Given the description of an element on the screen output the (x, y) to click on. 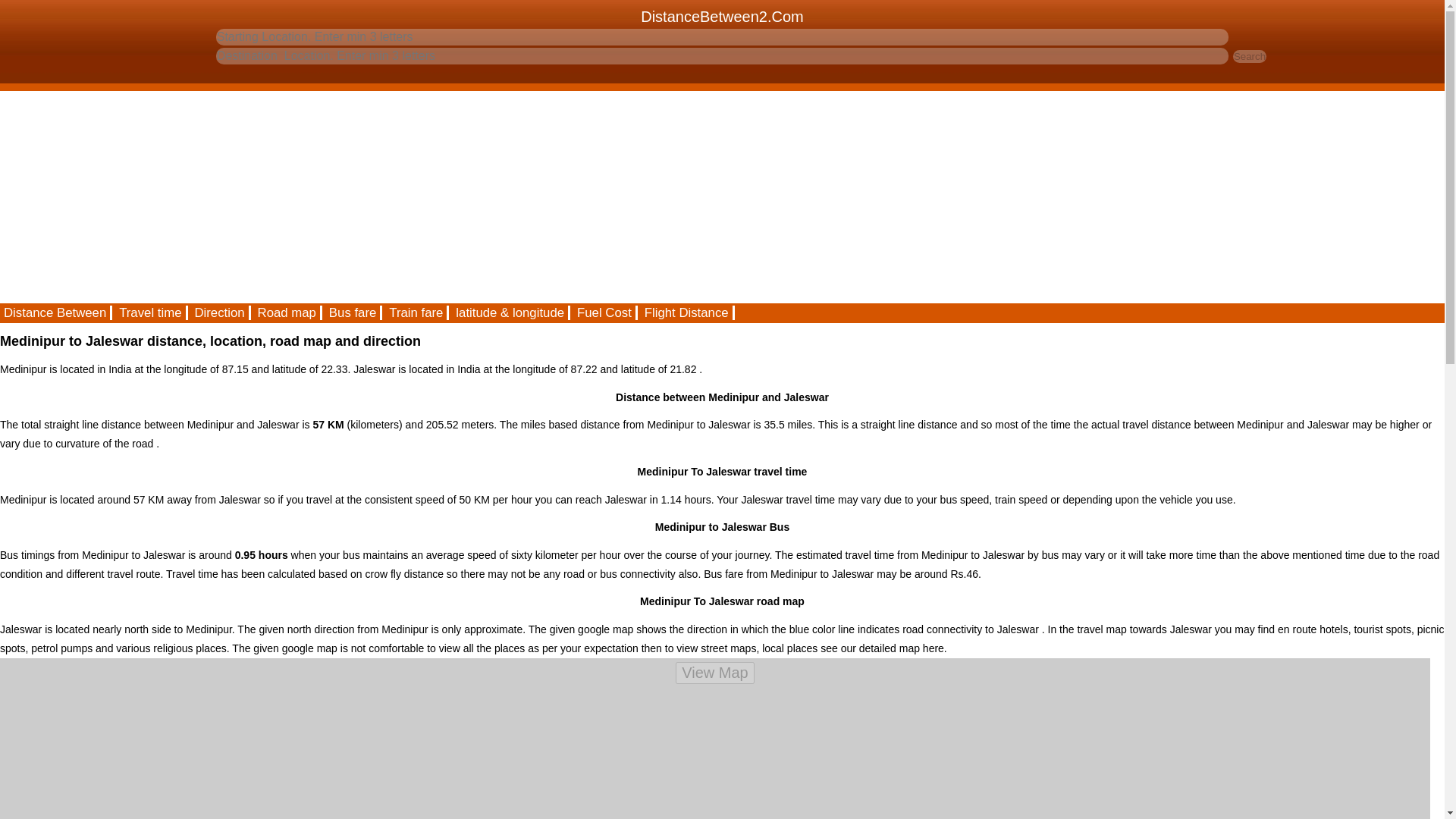
Flight Distance (687, 312)
Road map (287, 312)
View Map (714, 672)
Distance Between (56, 312)
Bus fare (353, 312)
Search (1249, 56)
Fuel Cost (605, 312)
Travel time (151, 312)
Search (1249, 56)
Direction (220, 312)
driving direction (220, 312)
Train fare (416, 312)
